Given the description of an element on the screen output the (x, y) to click on. 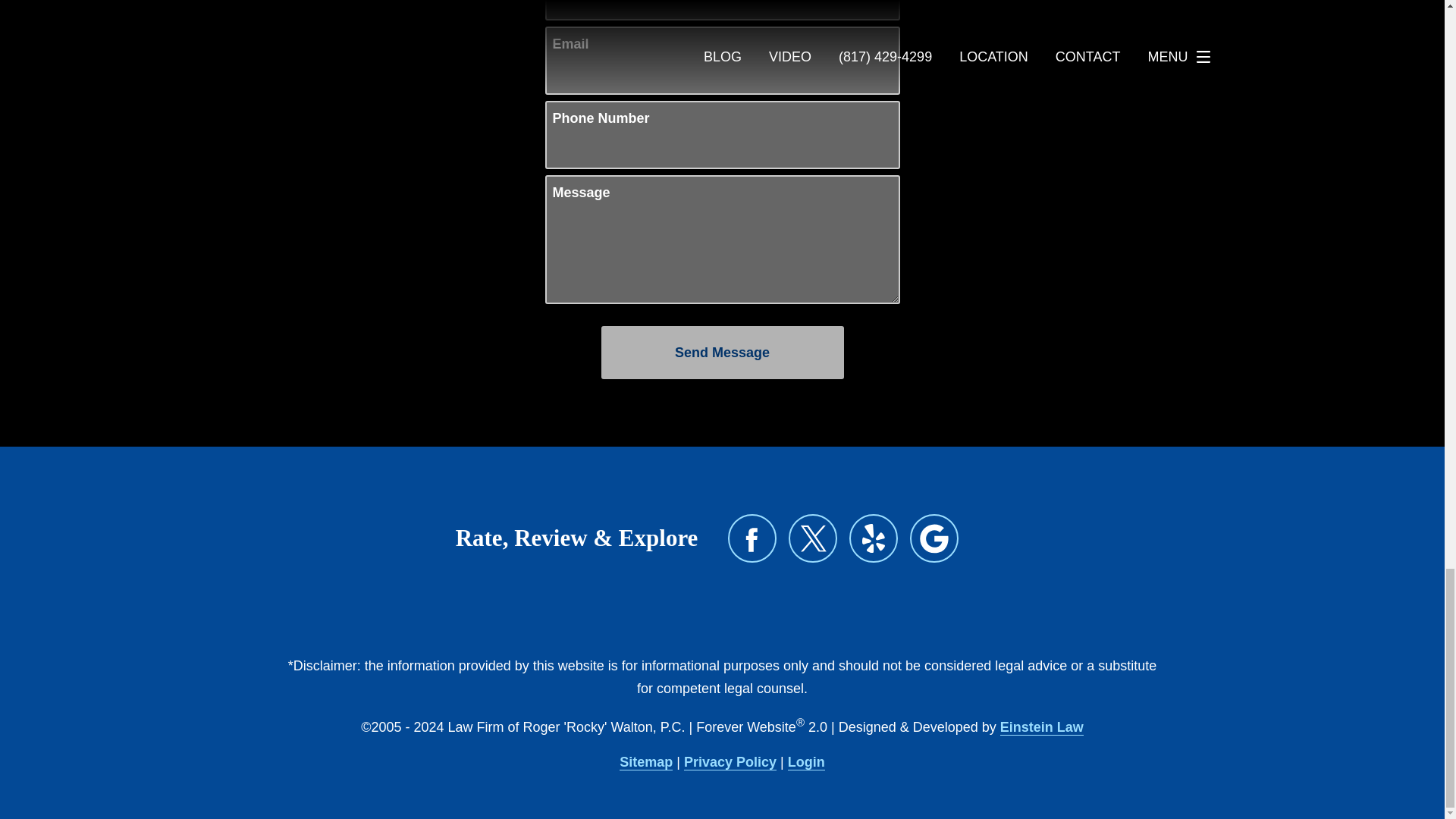
Login (806, 762)
Twitter (813, 538)
Send Message (721, 352)
Privacy Policy (730, 762)
Google (934, 538)
Einstein Law (1041, 727)
Sitemap (646, 762)
Facebook (752, 538)
Yelp (873, 538)
